Given the description of an element on the screen output the (x, y) to click on. 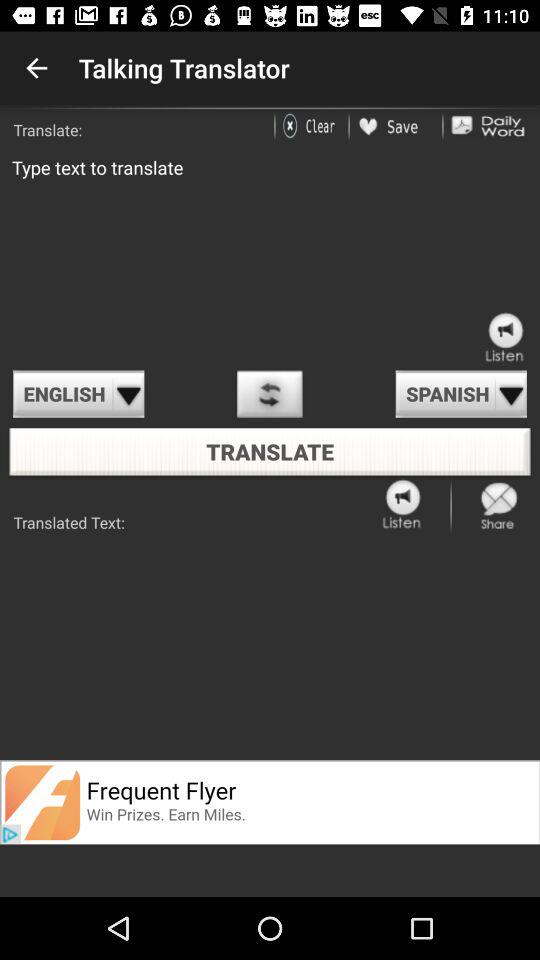
sound (403, 505)
